Given the description of an element on the screen output the (x, y) to click on. 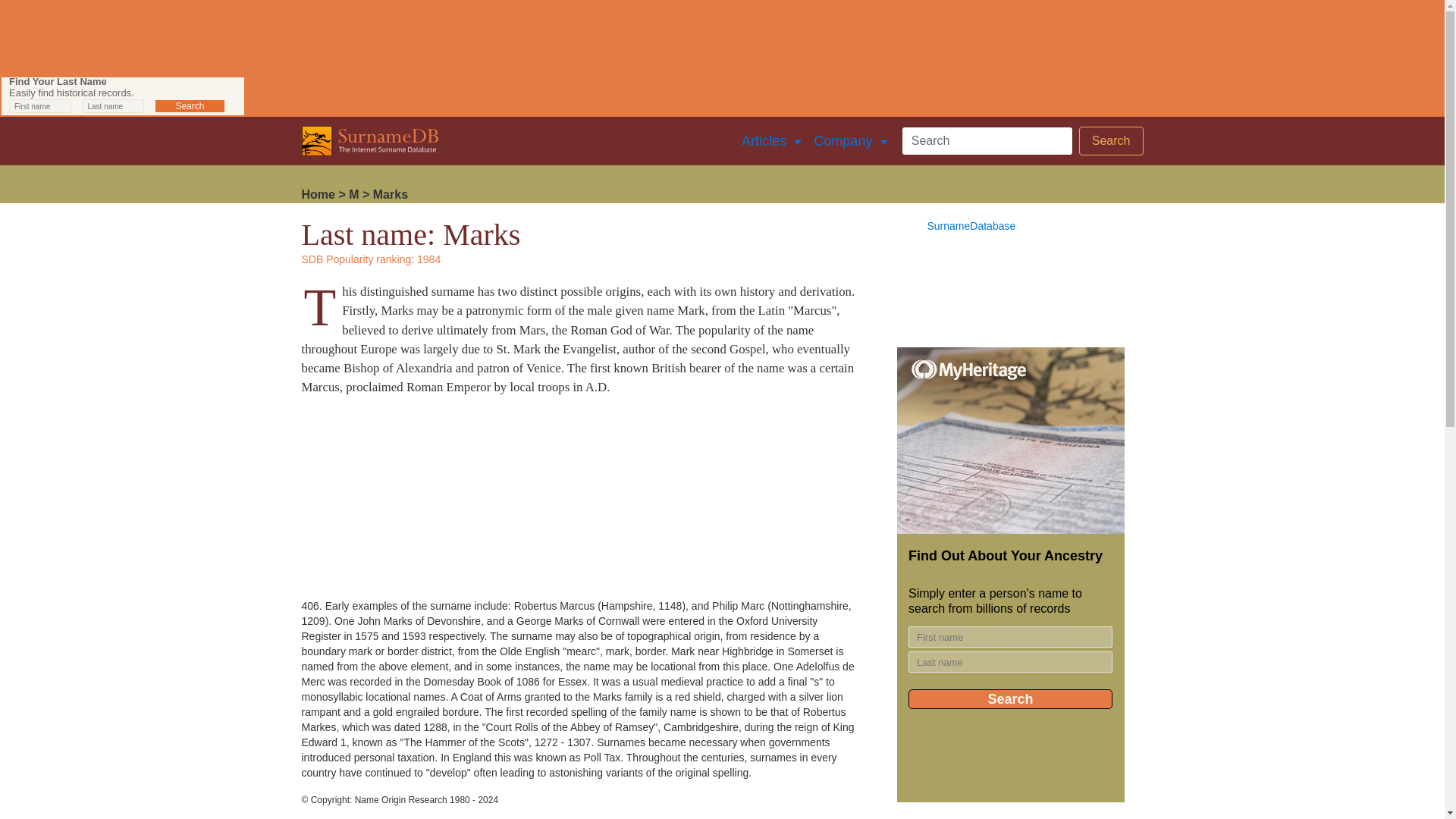
3rd party ad content (415, 503)
Articles (771, 140)
advertisement (122, 95)
SurnameDatabase (970, 225)
3rd party ad content (1010, 574)
Search (1110, 140)
Company (850, 140)
